Given the description of an element on the screen output the (x, y) to click on. 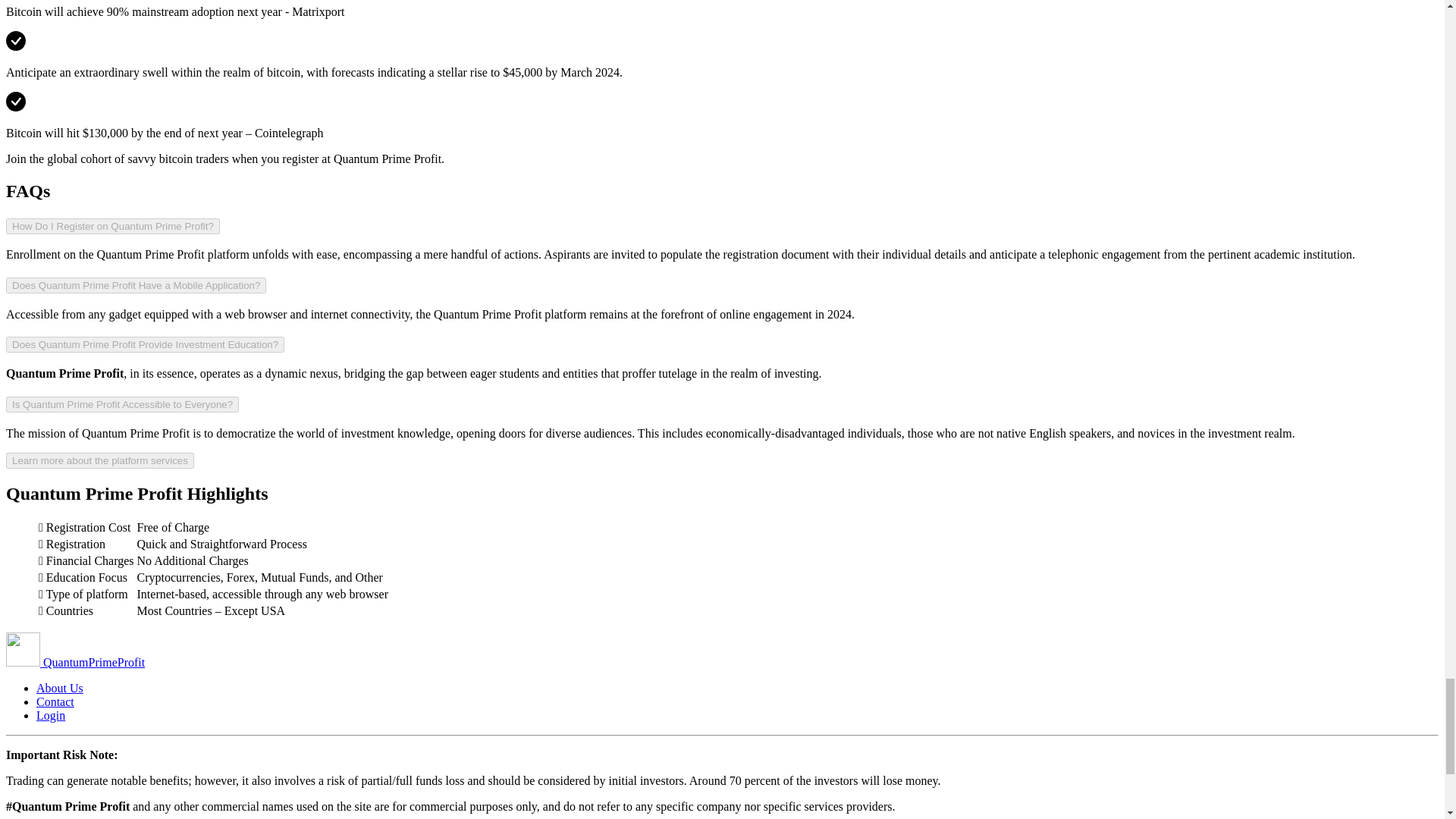
Learn more about the platform services (99, 460)
Login (50, 715)
Does Quantum Prime Profit Have a Mobile Application? (135, 285)
Contact (55, 701)
How Do I Register on Quantum Prime Profit? (112, 226)
About Us (59, 687)
Does Quantum Prime Profit Provide Investment Education? (144, 344)
Is Quantum Prime Profit Accessible to Everyone? (121, 404)
QuantumPrimeProfit (74, 662)
